Given the description of an element on the screen output the (x, y) to click on. 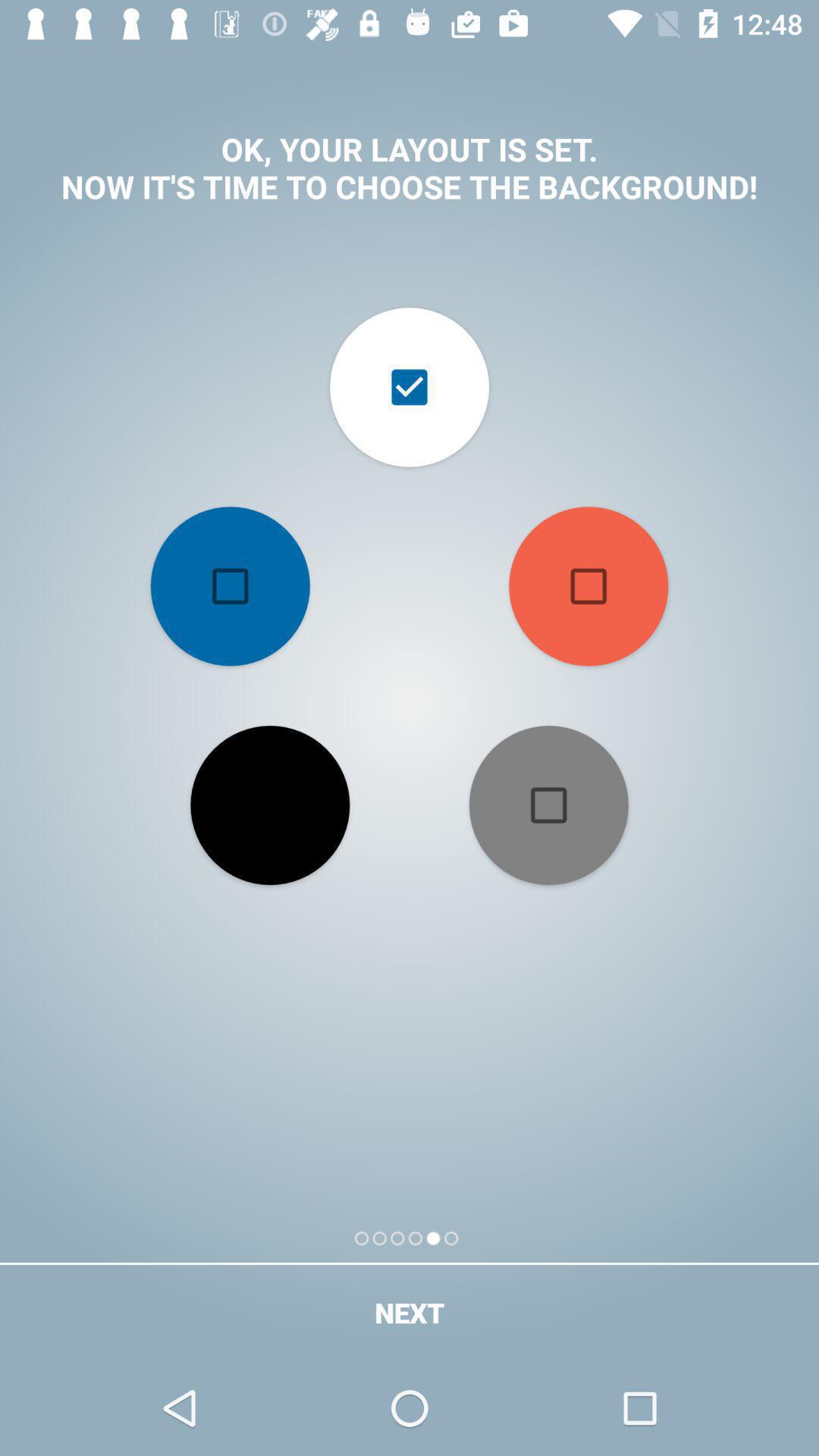
click the item below ok your layout icon (229, 586)
